Given the description of an element on the screen output the (x, y) to click on. 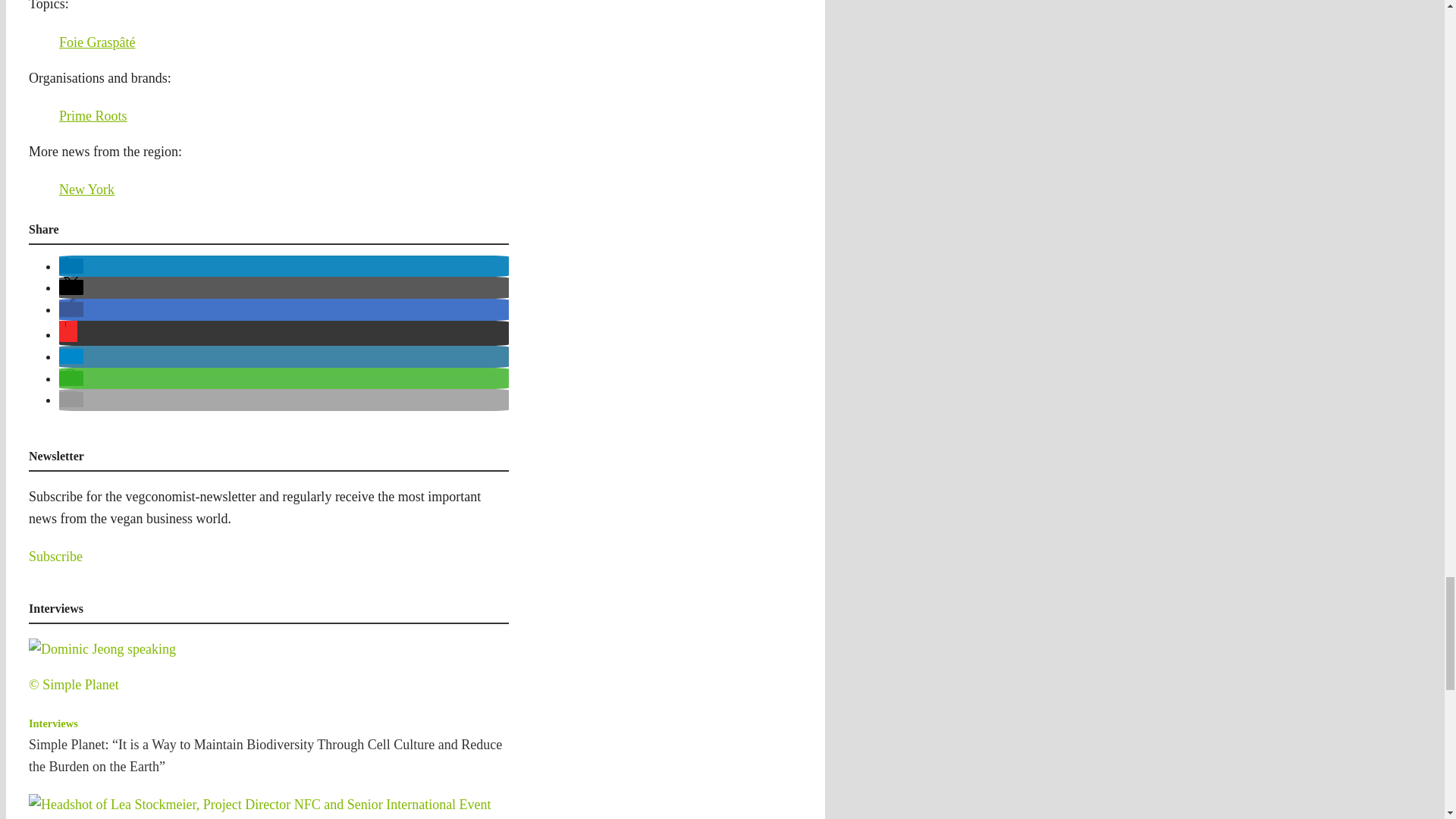
Share on Telegram (70, 355)
Share on Whatsapp (70, 378)
Share on Flipboard (68, 334)
Foie Gras (86, 42)
Prime Roots (93, 115)
Share on LinkedIn (70, 265)
Share on Facebook (70, 309)
Share on X (70, 287)
New York (87, 189)
